Given the description of an element on the screen output the (x, y) to click on. 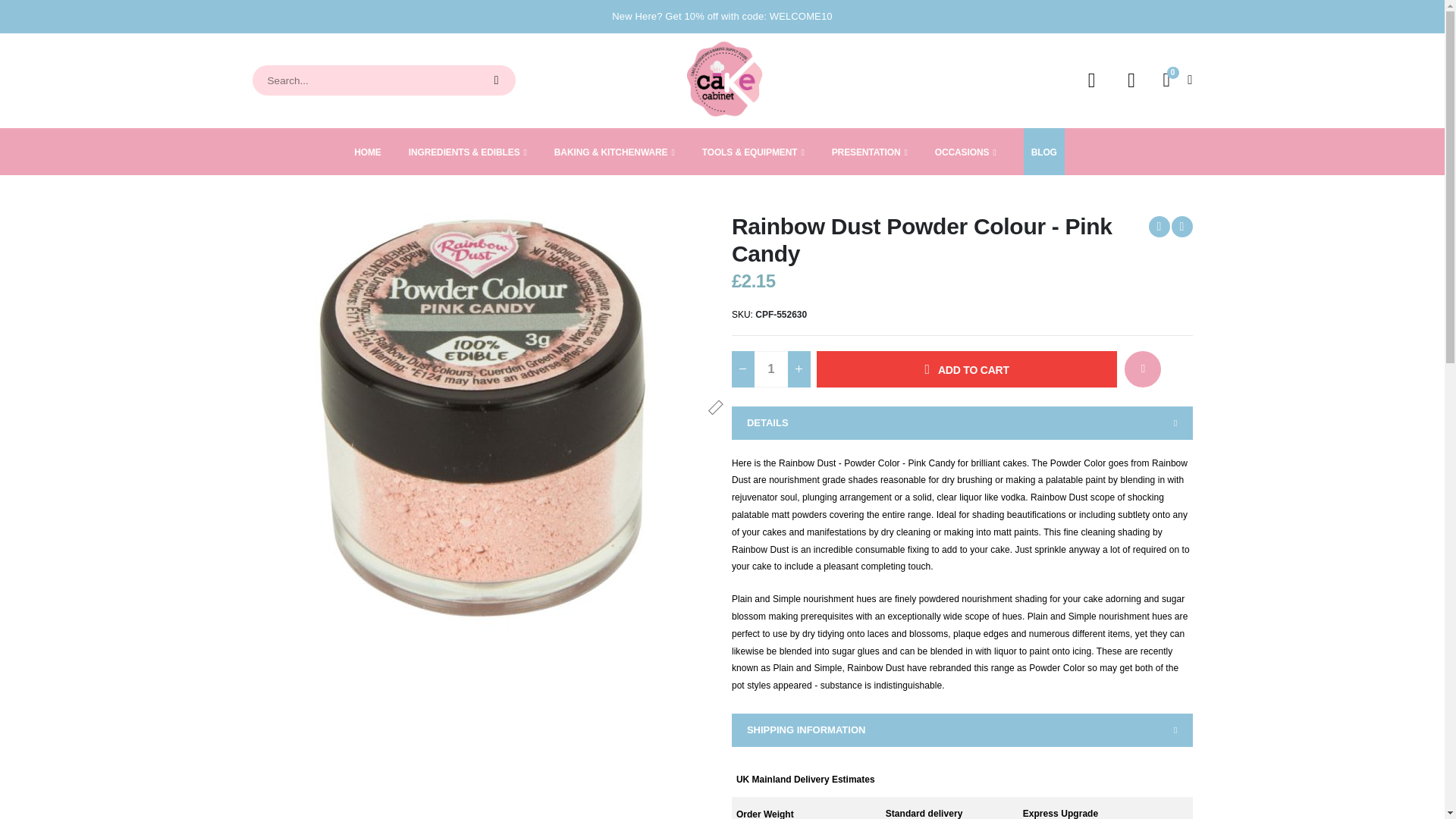
Wishlist (1132, 80)
Search (1174, 80)
HOME (496, 80)
1 (367, 152)
My Account (770, 369)
